Given the description of an element on the screen output the (x, y) to click on. 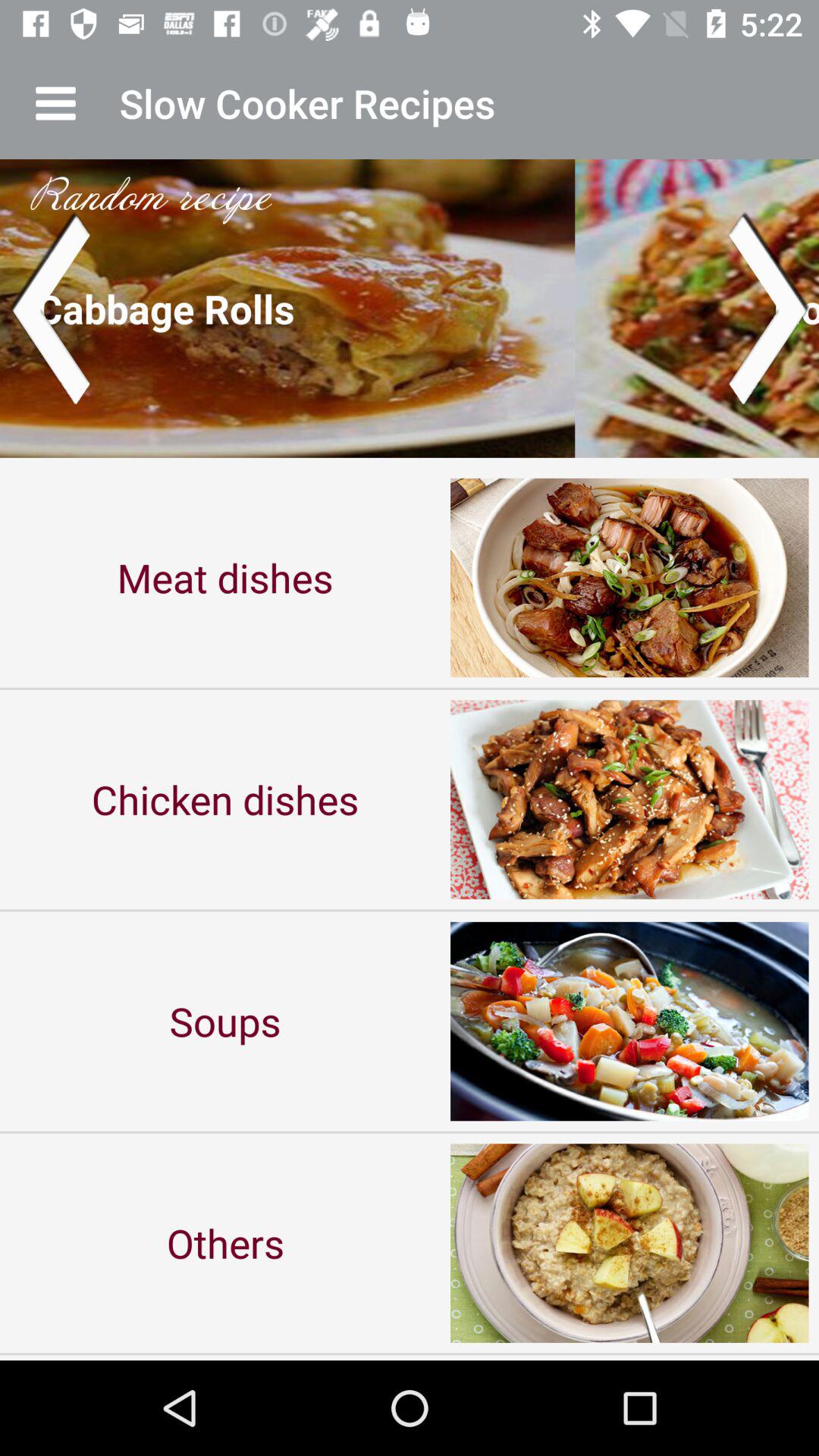
turn on app to the left of the slow cooker recipes (55, 103)
